Given the description of an element on the screen output the (x, y) to click on. 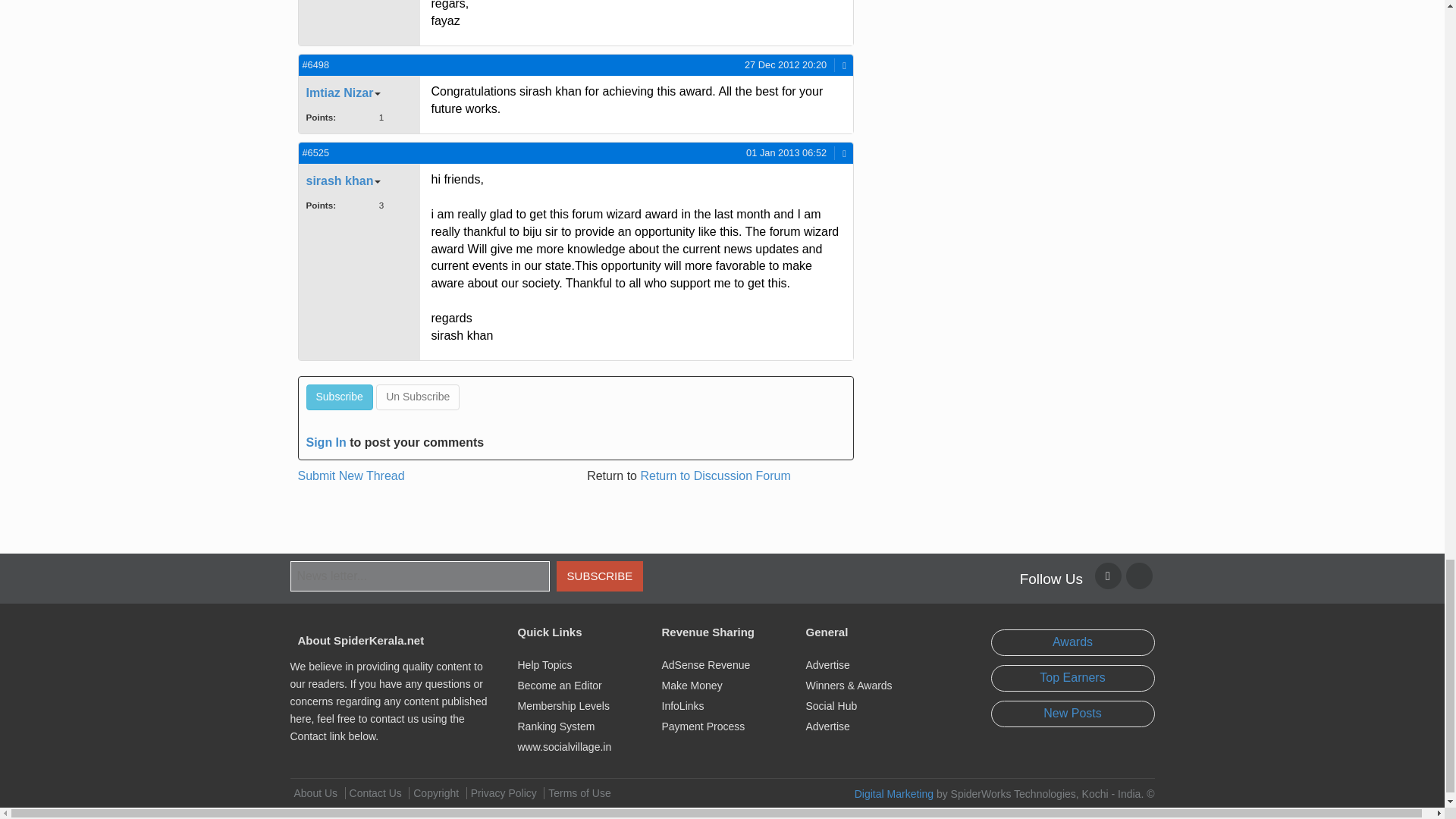
Subscribe (338, 397)
Un Subscribe (417, 397)
